Given the description of an element on the screen output the (x, y) to click on. 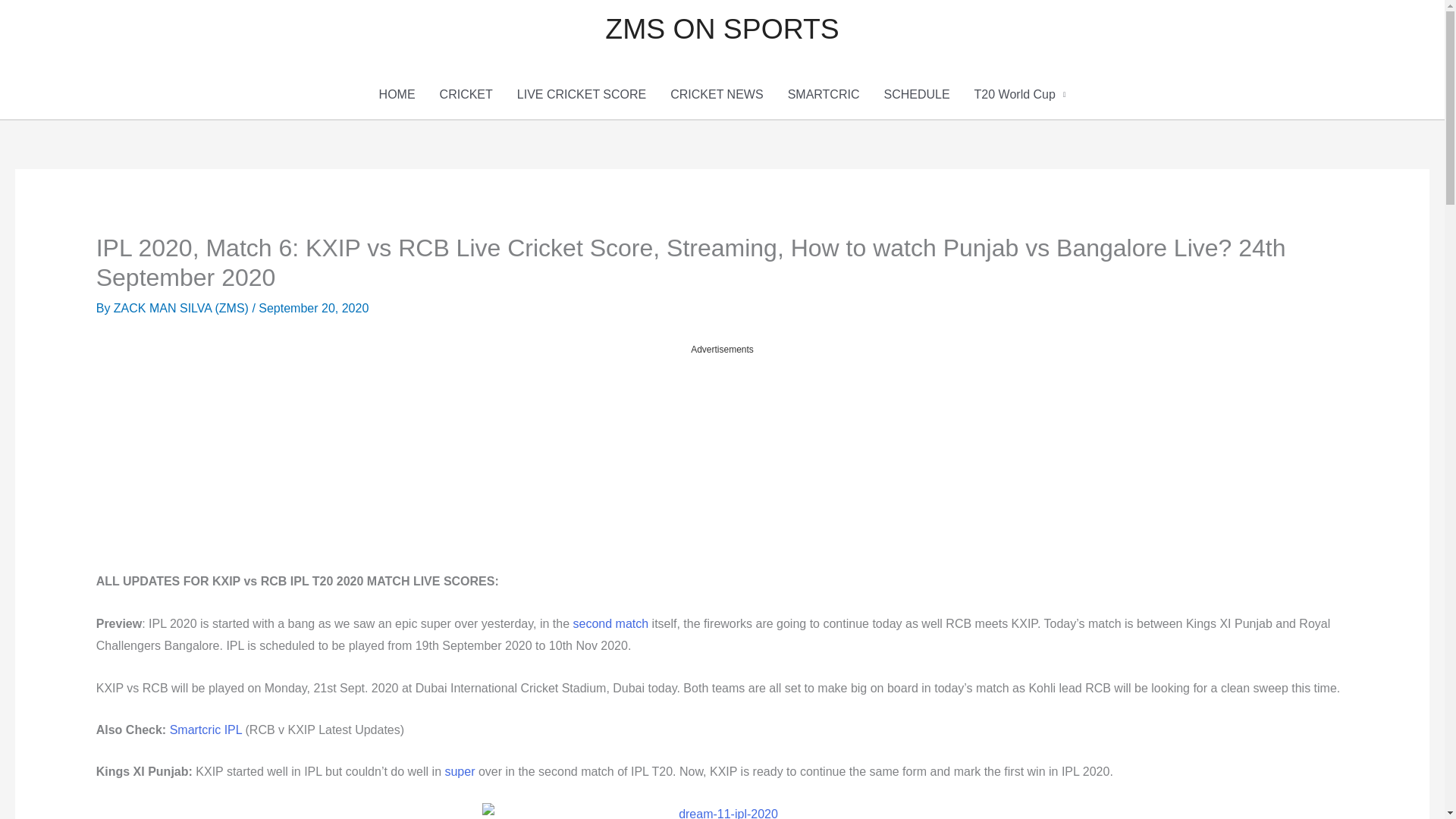
SCHEDULE (915, 94)
T20 World Cup (1020, 94)
LIVE CRICKET SCORE (581, 94)
SMARTCRIC (824, 94)
second match (611, 623)
CRICKET NEWS (716, 94)
CRICKET (466, 94)
Smartcric IPL (205, 729)
HOME (397, 94)
Advertisement (722, 463)
ZMS ON SPORTS (721, 29)
super (459, 771)
